Given the description of an element on the screen output the (x, y) to click on. 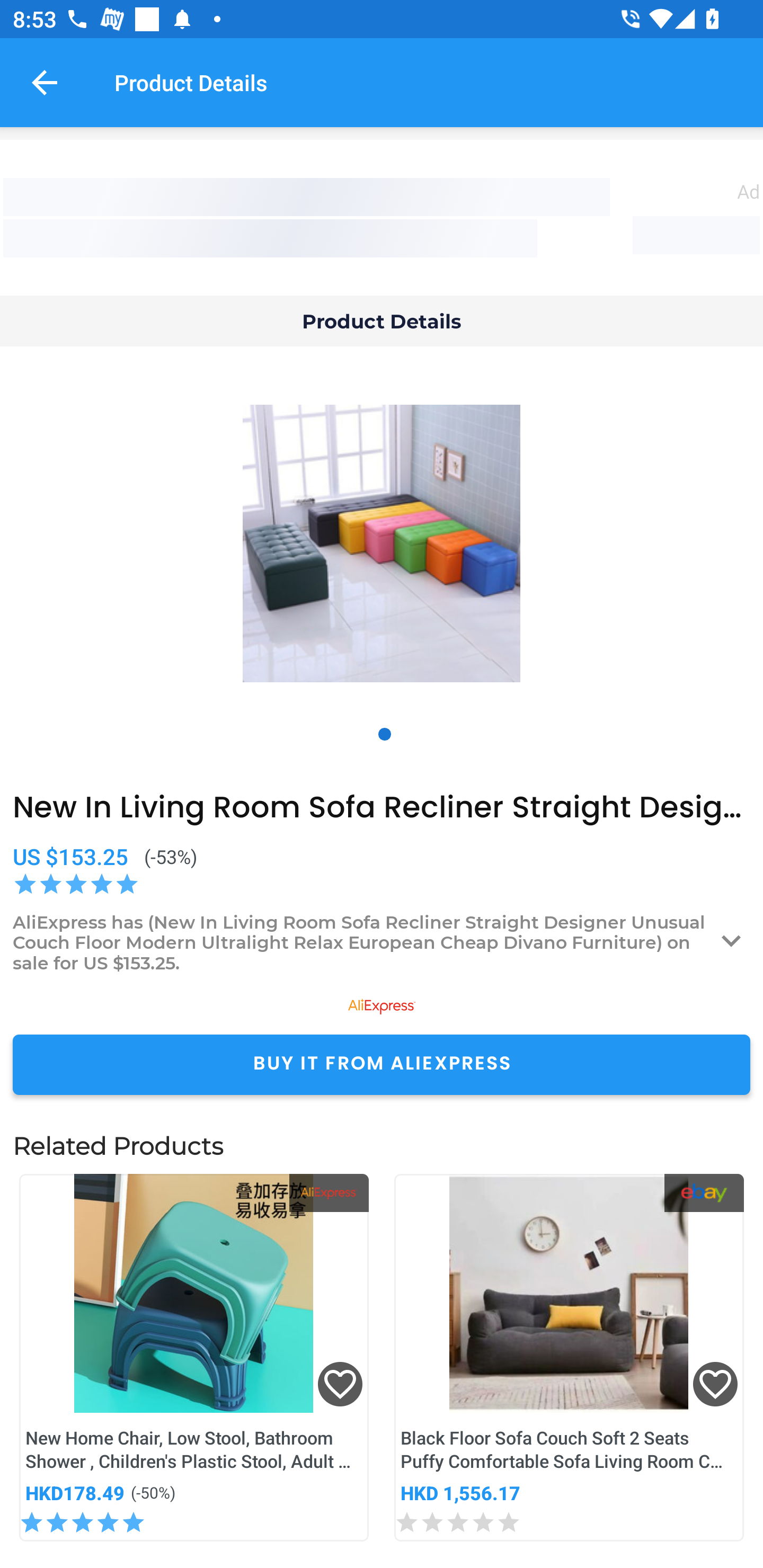
Navigate up (44, 82)
BUY IT FROM ALIEXPRESS (381, 1064)
